Given the description of an element on the screen output the (x, y) to click on. 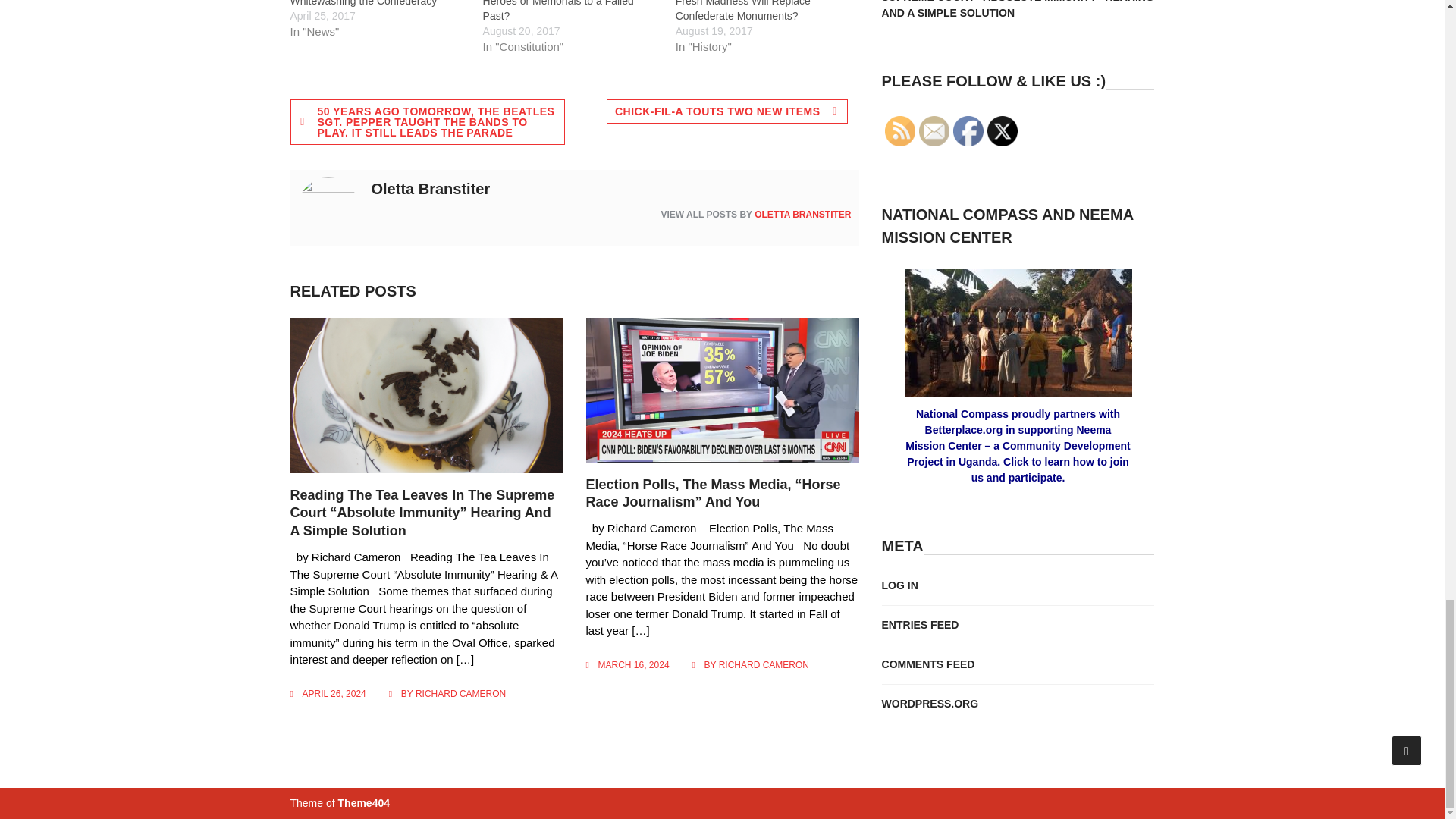
Follow by Email (933, 131)
Twitter (1002, 131)
CHICK-FIL-A TOUTS TWO NEW ITEMS (727, 111)
RSS (900, 131)
Facebook (968, 131)
